Given the description of an element on the screen output the (x, y) to click on. 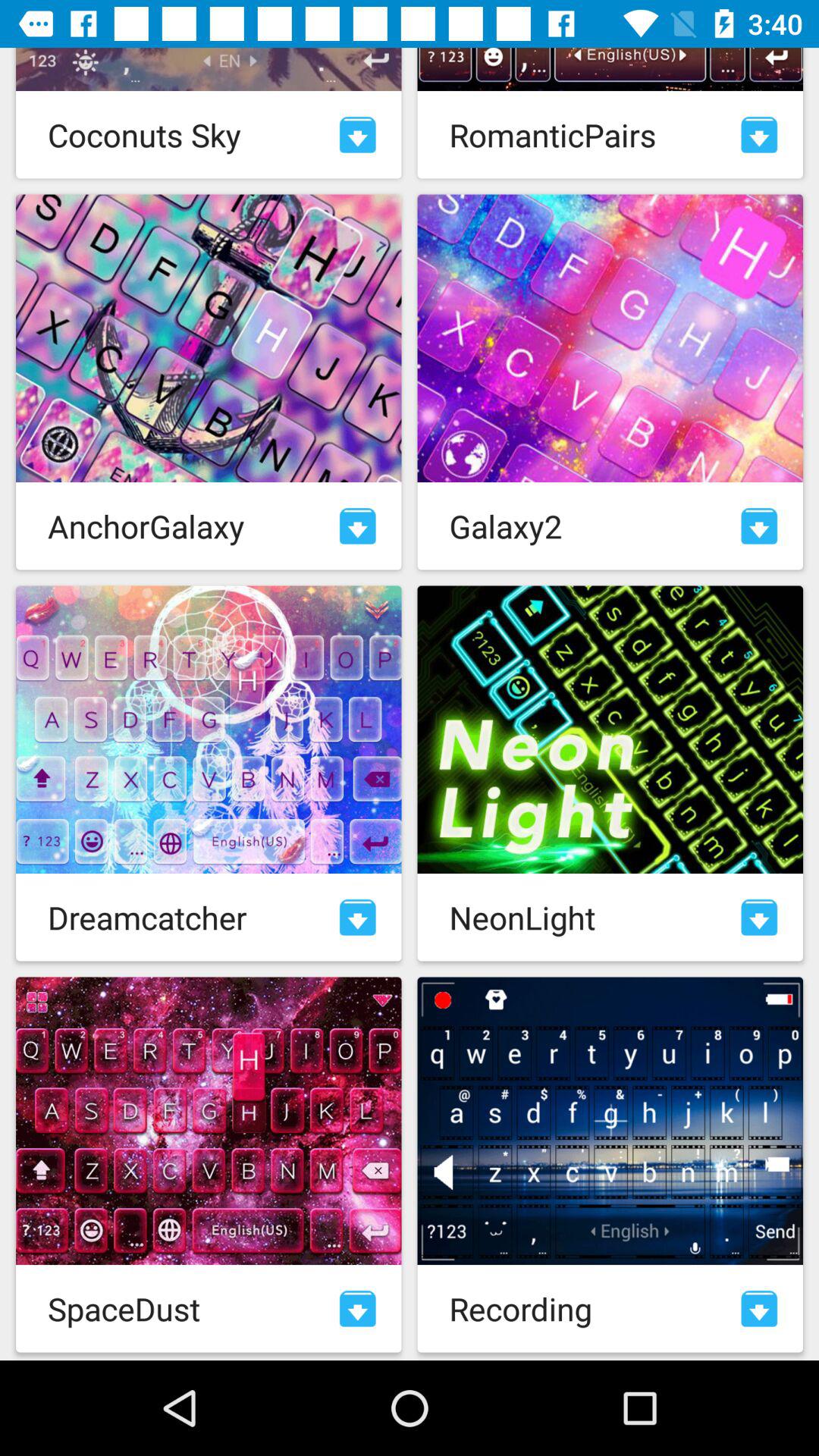
download theme (357, 1308)
